Given the description of an element on the screen output the (x, y) to click on. 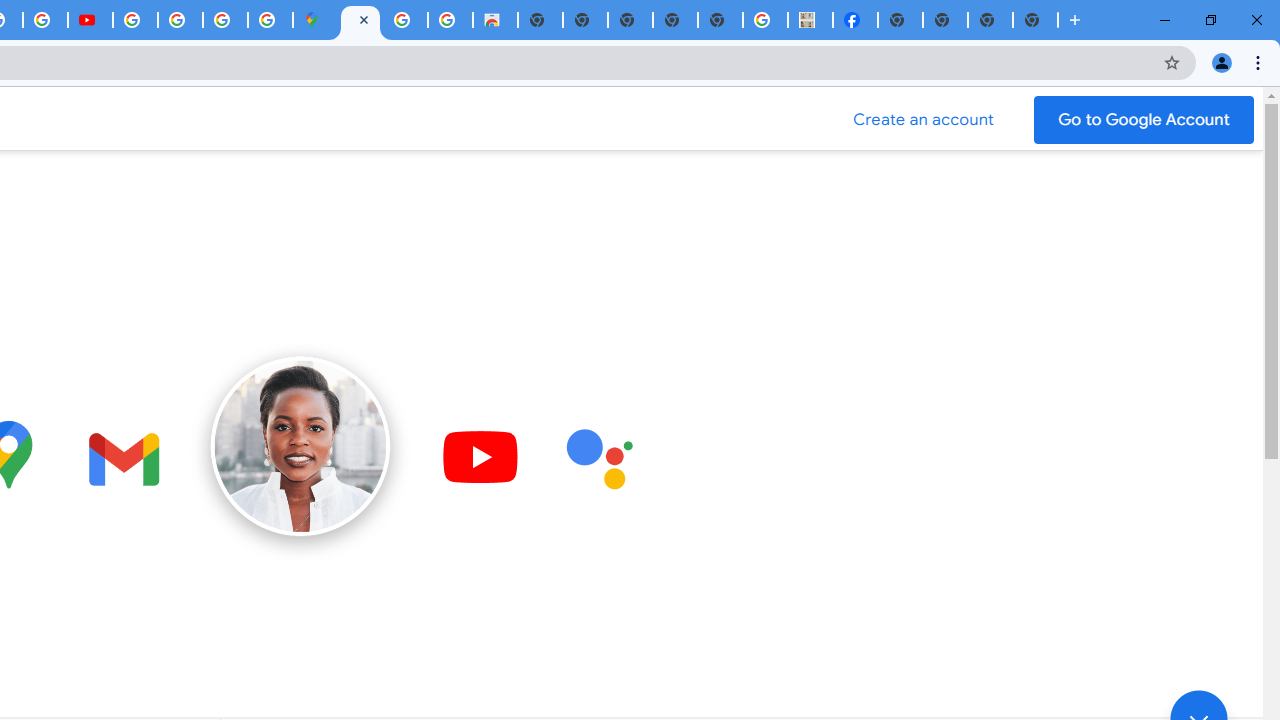
New Tab (1035, 20)
How Chrome protects your passwords - Google Chrome Help (134, 20)
Subscriptions - YouTube (89, 20)
MILEY CYRUS. (810, 20)
